Given the description of an element on the screen output the (x, y) to click on. 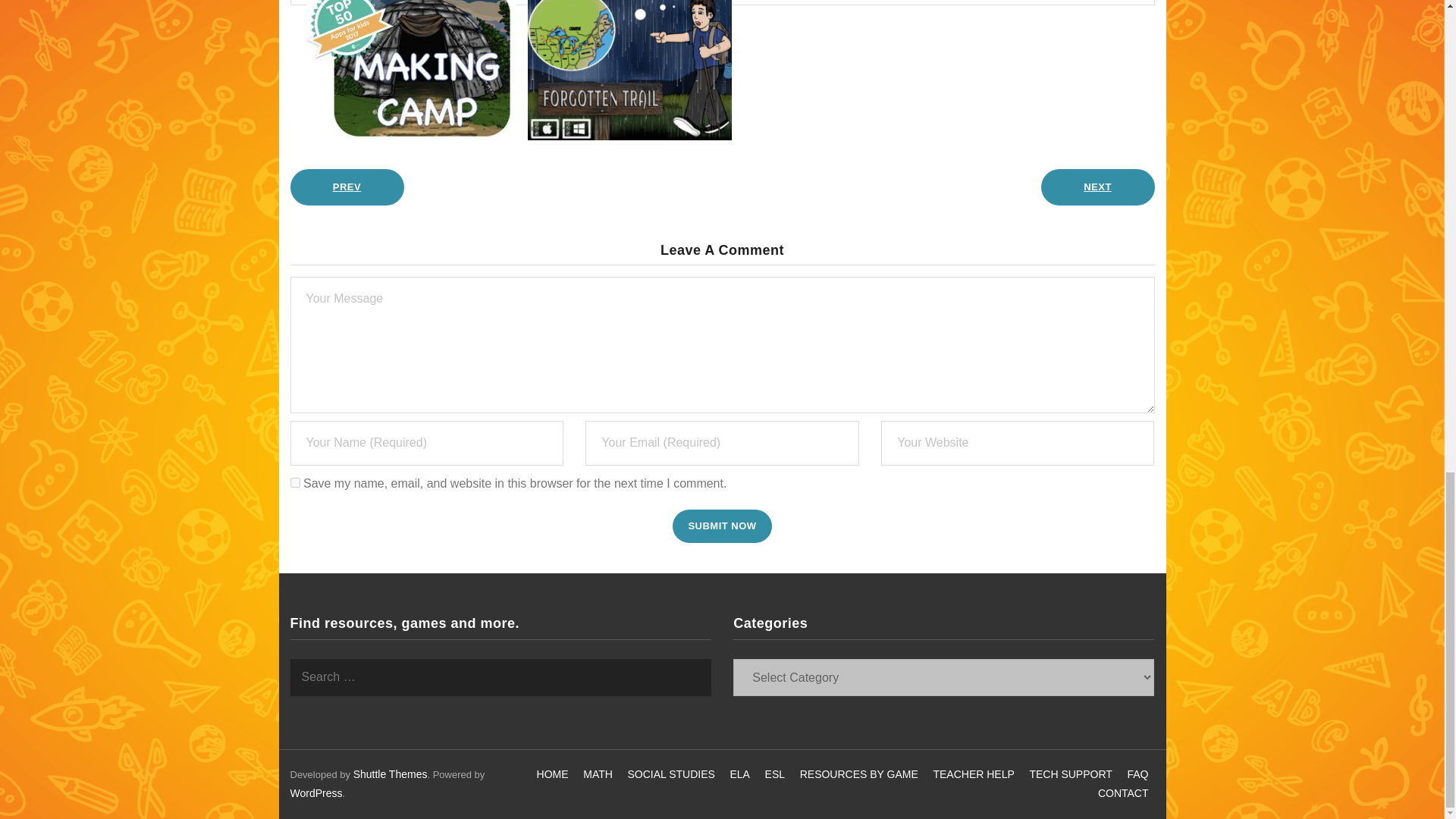
Submit Now (721, 525)
yes (294, 482)
